Given the description of an element on the screen output the (x, y) to click on. 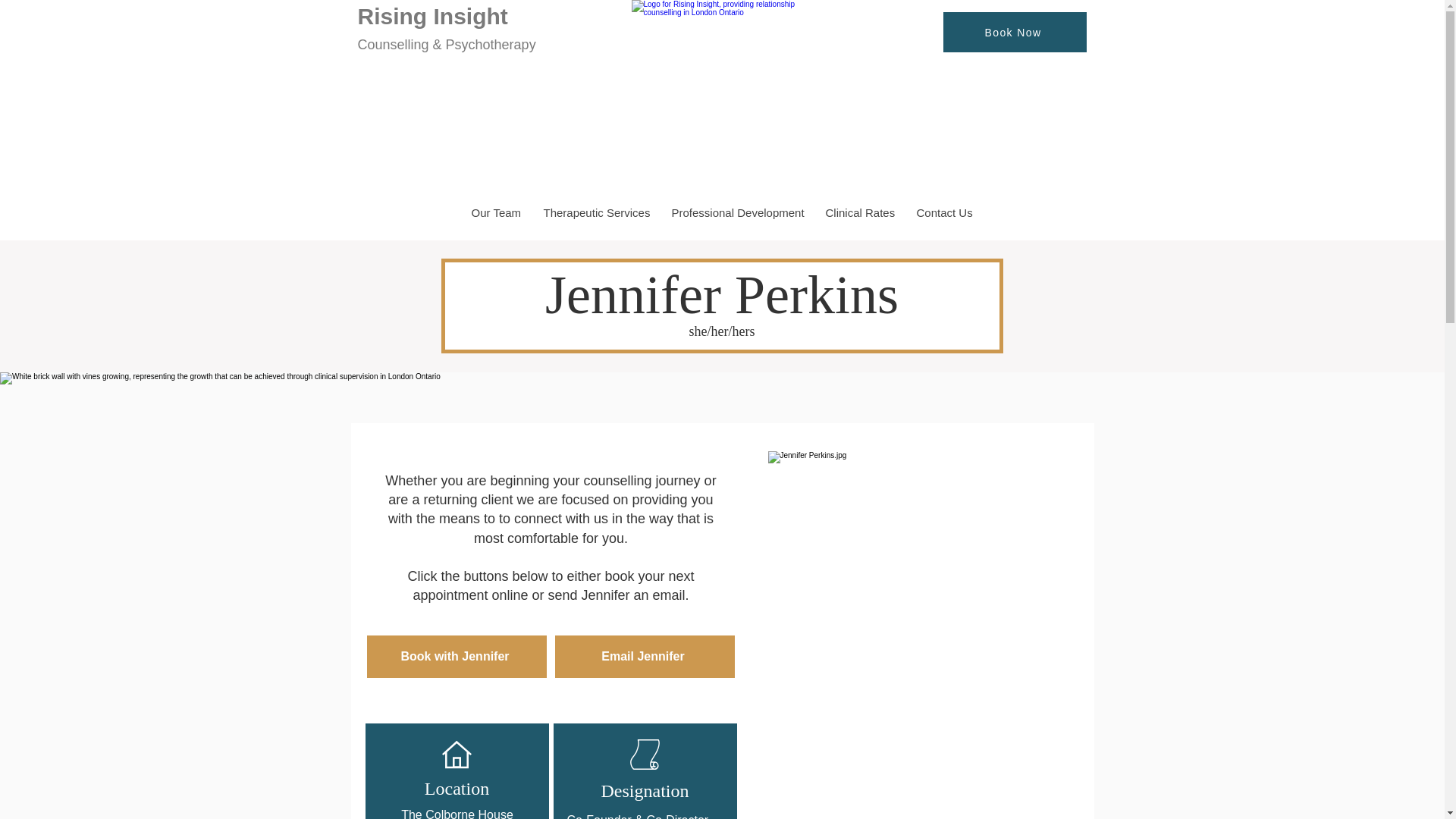
Professional Development (736, 212)
Rising Insight (433, 16)
Therapeutic Services (595, 212)
Book Now (1014, 32)
Book with Jennifer (456, 656)
Clinical Rates (858, 212)
Our Team (495, 212)
Contact Us (944, 212)
Email Jennifer (644, 656)
